Given the description of an element on the screen output the (x, y) to click on. 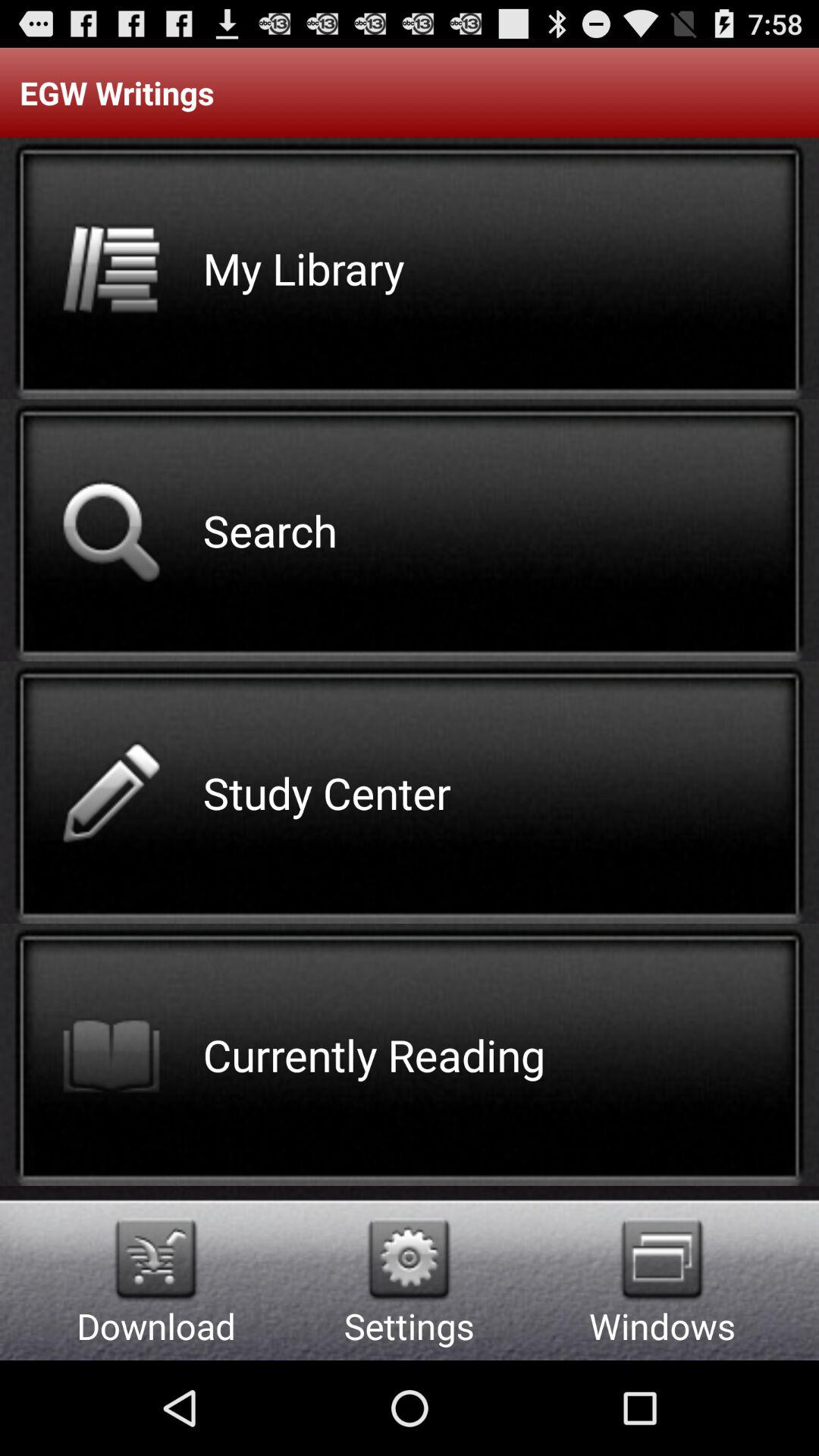
download (156, 1258)
